Given the description of an element on the screen output the (x, y) to click on. 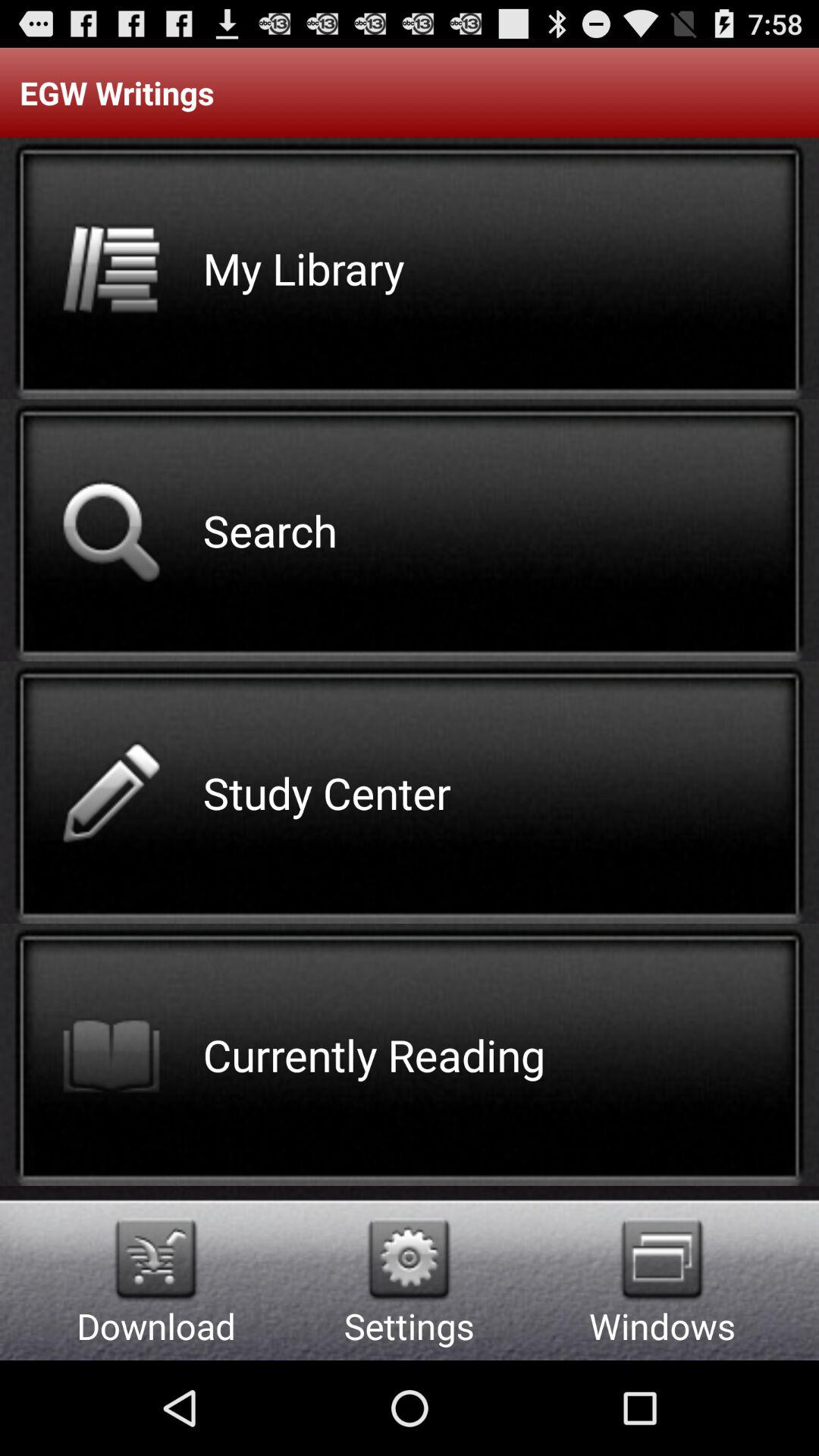
download (156, 1258)
